Given the description of an element on the screen output the (x, y) to click on. 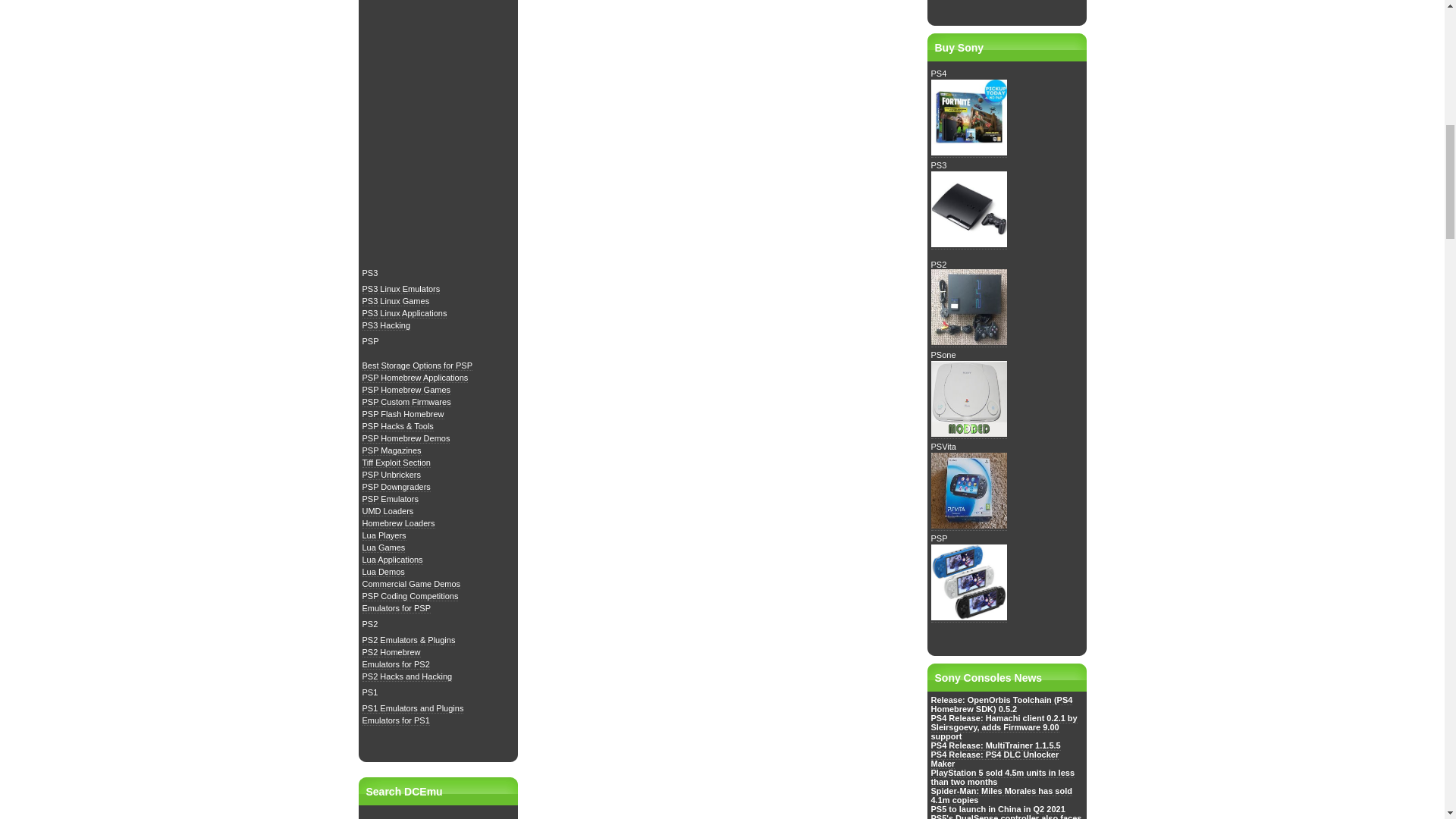
PS3 Linux Games (395, 301)
PS3 Linux Emulators (401, 289)
PS3 Hacking (386, 325)
PSP Homebrew Applications (415, 378)
PS3 Linux Applications (404, 313)
Best Storage Options for PSP (417, 366)
Advertisement (437, 131)
Advertisement (721, 49)
